Given the description of an element on the screen output the (x, y) to click on. 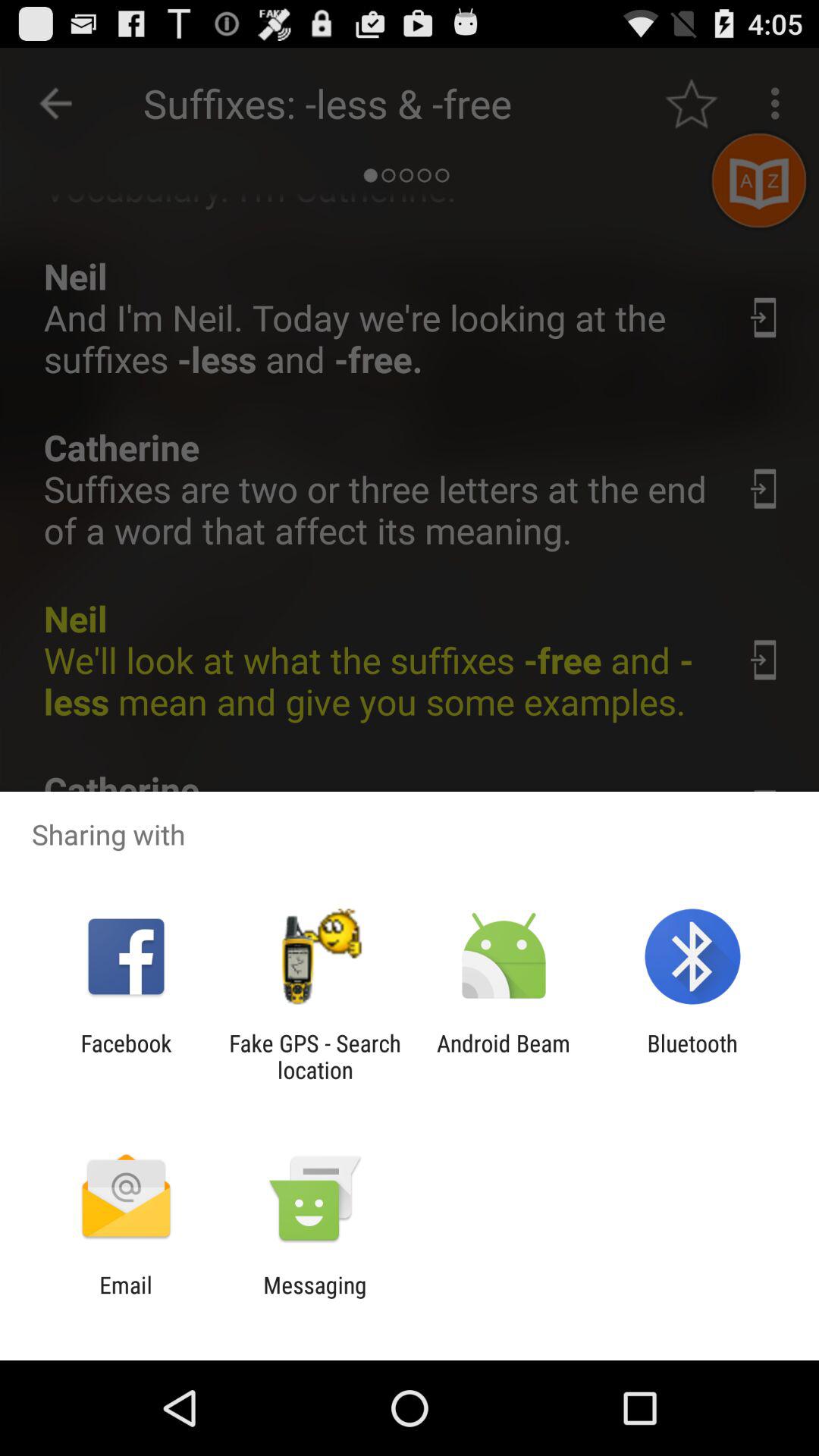
jump until the messaging (314, 1298)
